Given the description of an element on the screen output the (x, y) to click on. 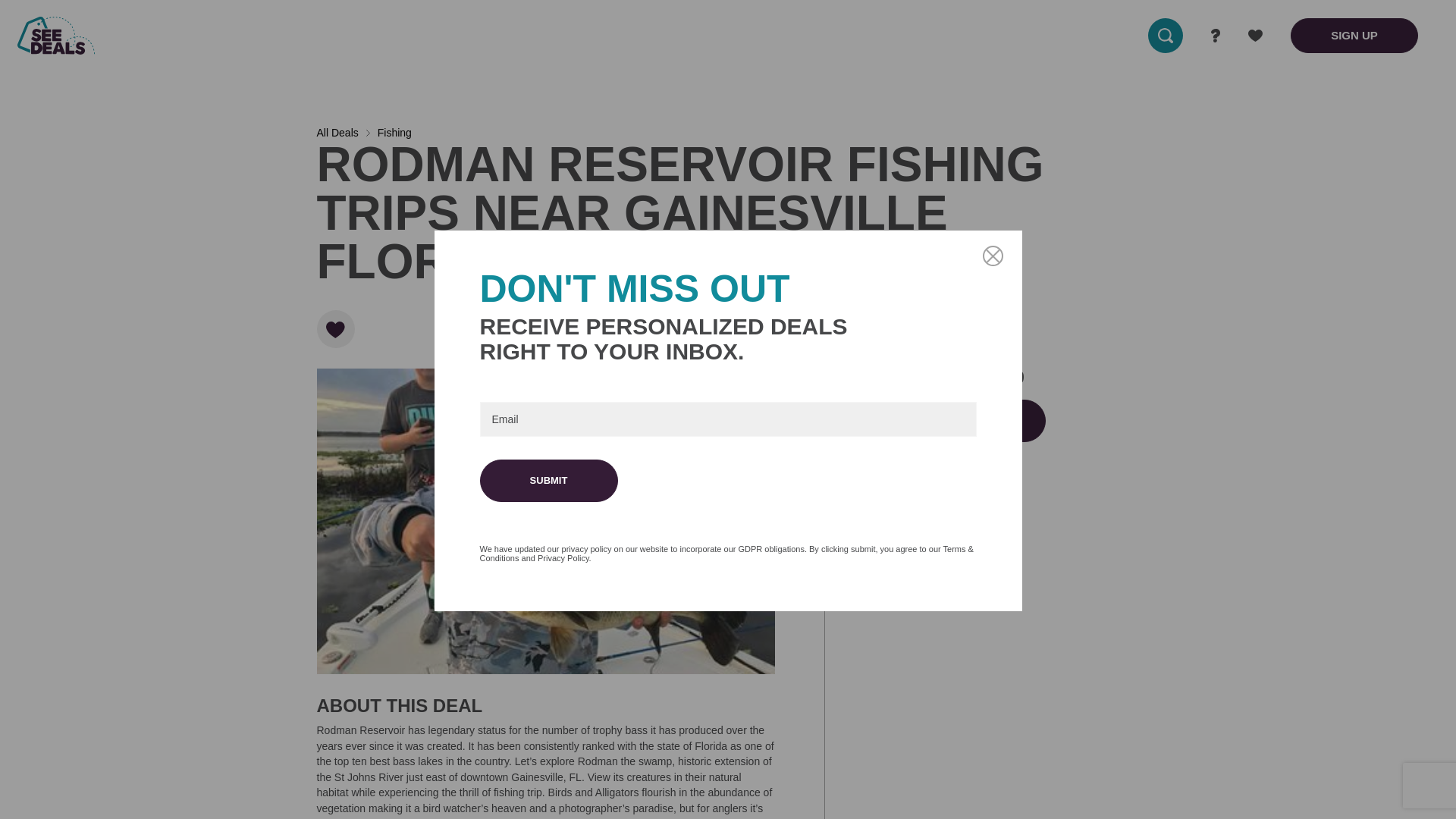
SIGN UP (1354, 35)
SUBMIT (548, 480)
